Given the description of an element on the screen output the (x, y) to click on. 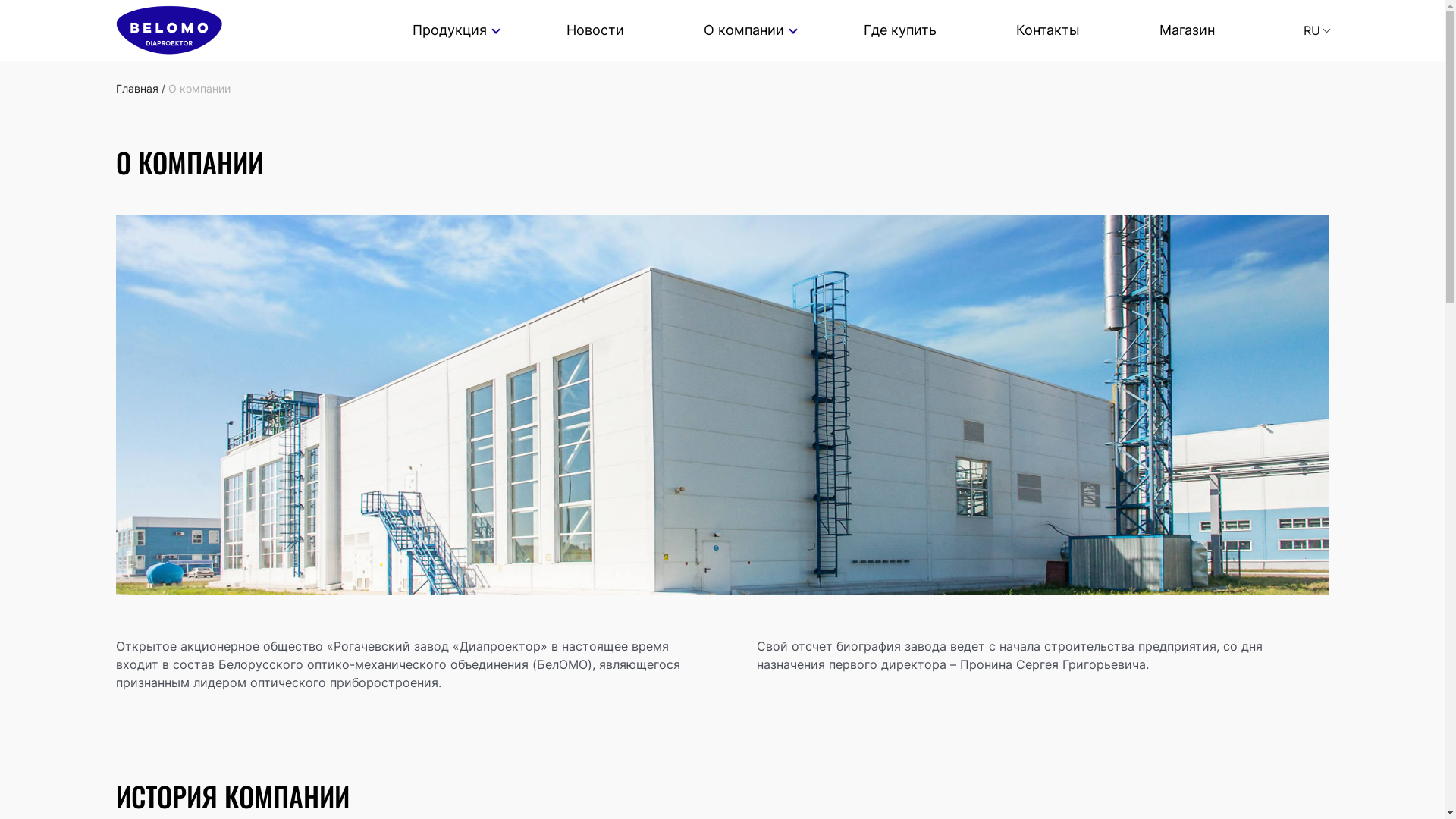
RU Element type: text (1310, 30)
